Given the description of an element on the screen output the (x, y) to click on. 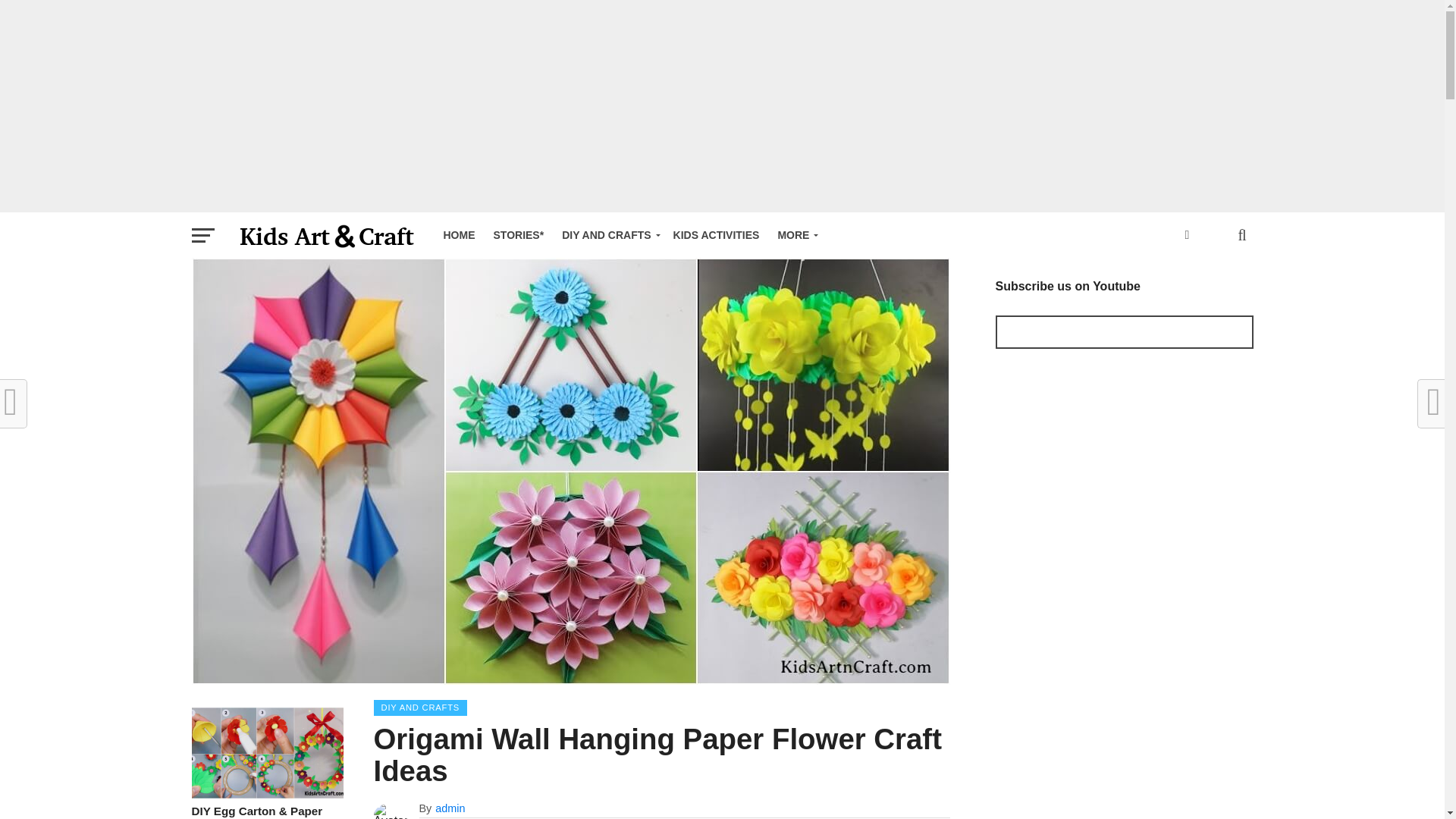
Posts by admin (449, 808)
KIDS ACTIVITIES (715, 234)
HOME (458, 234)
DIY AND CRAFTS (608, 234)
MORE (795, 234)
